Given the description of an element on the screen output the (x, y) to click on. 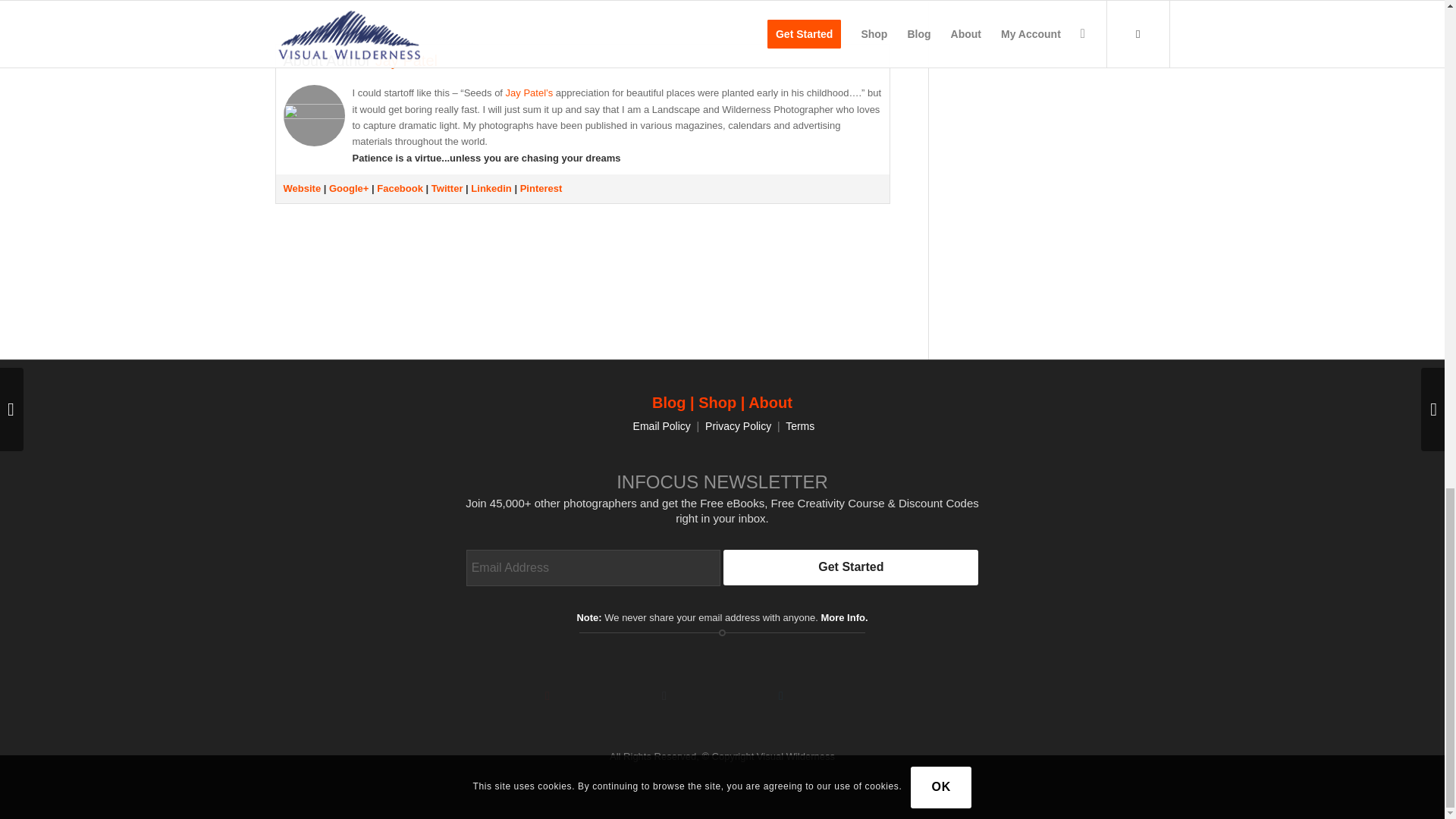
Linkedin (490, 188)
Website (302, 188)
Pinterest (540, 188)
Facebook (400, 188)
Twitter (446, 188)
Get Started (850, 567)
Jay Patel (406, 60)
